Given the description of an element on the screen output the (x, y) to click on. 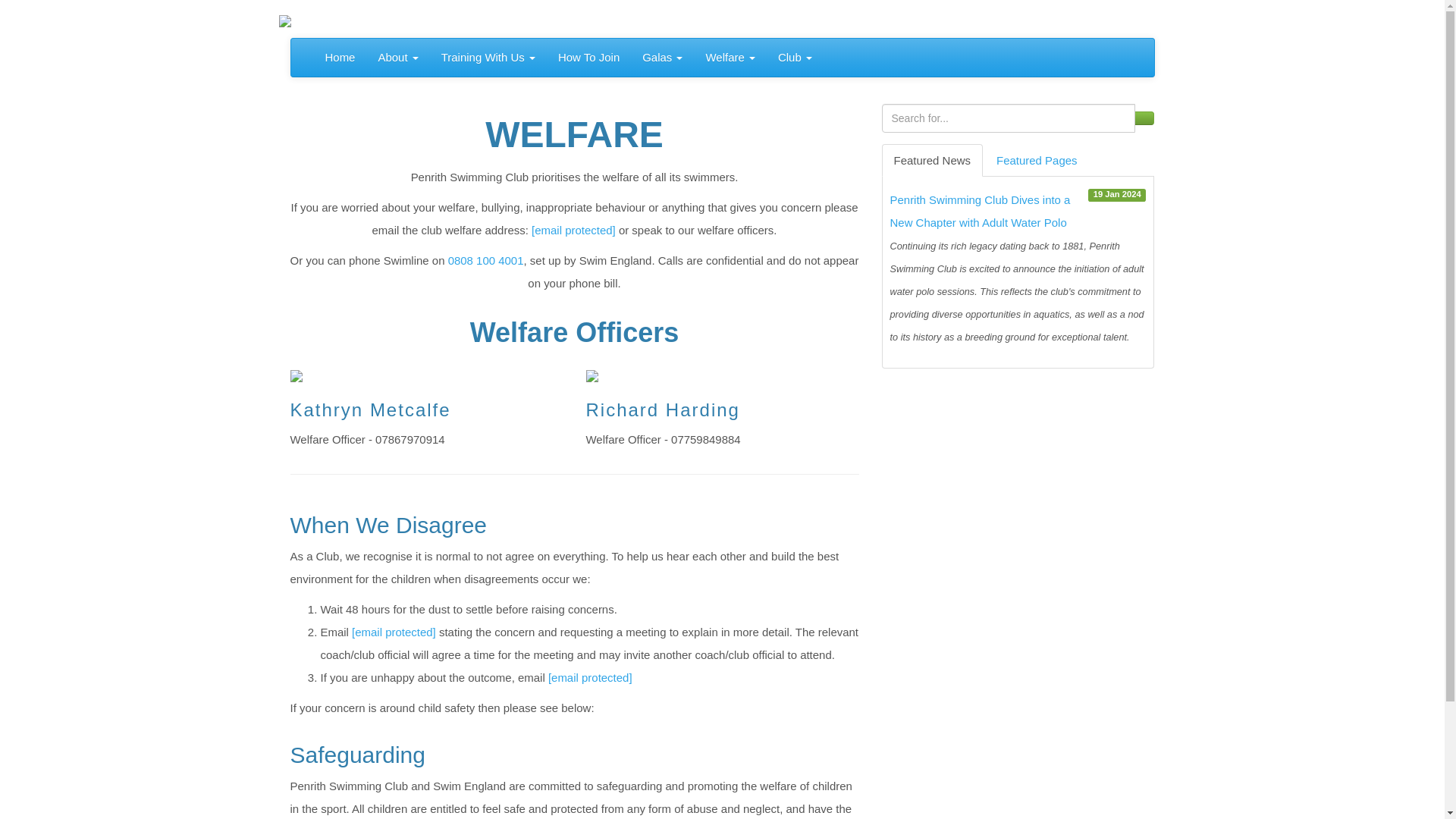
Training With Us (488, 57)
About (397, 57)
Galas (662, 57)
Home (340, 57)
Club (795, 57)
How To Join (588, 57)
Welfare (729, 57)
